Given the description of an element on the screen output the (x, y) to click on. 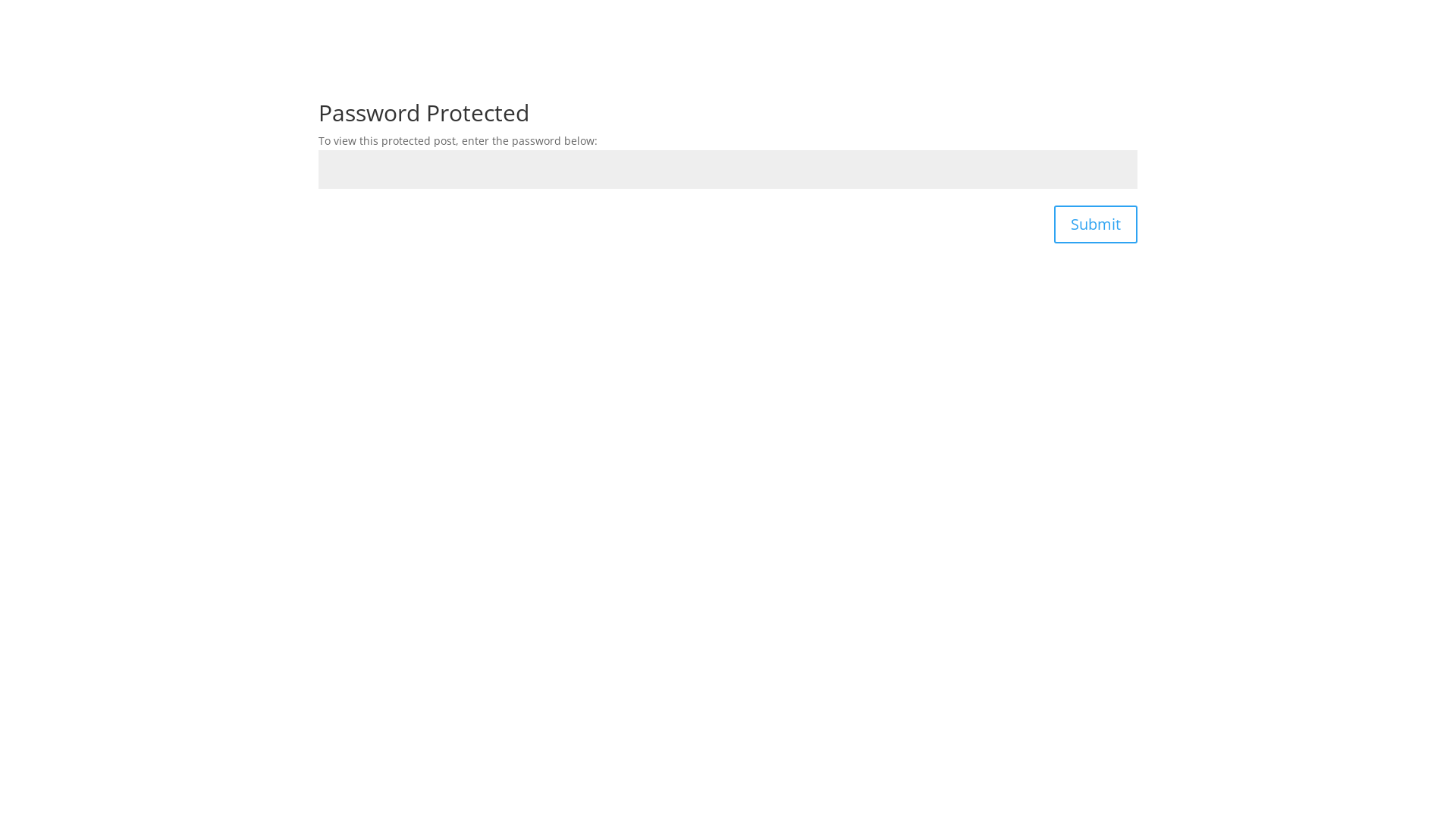
Submit Element type: text (1095, 224)
